Given the description of an element on the screen output the (x, y) to click on. 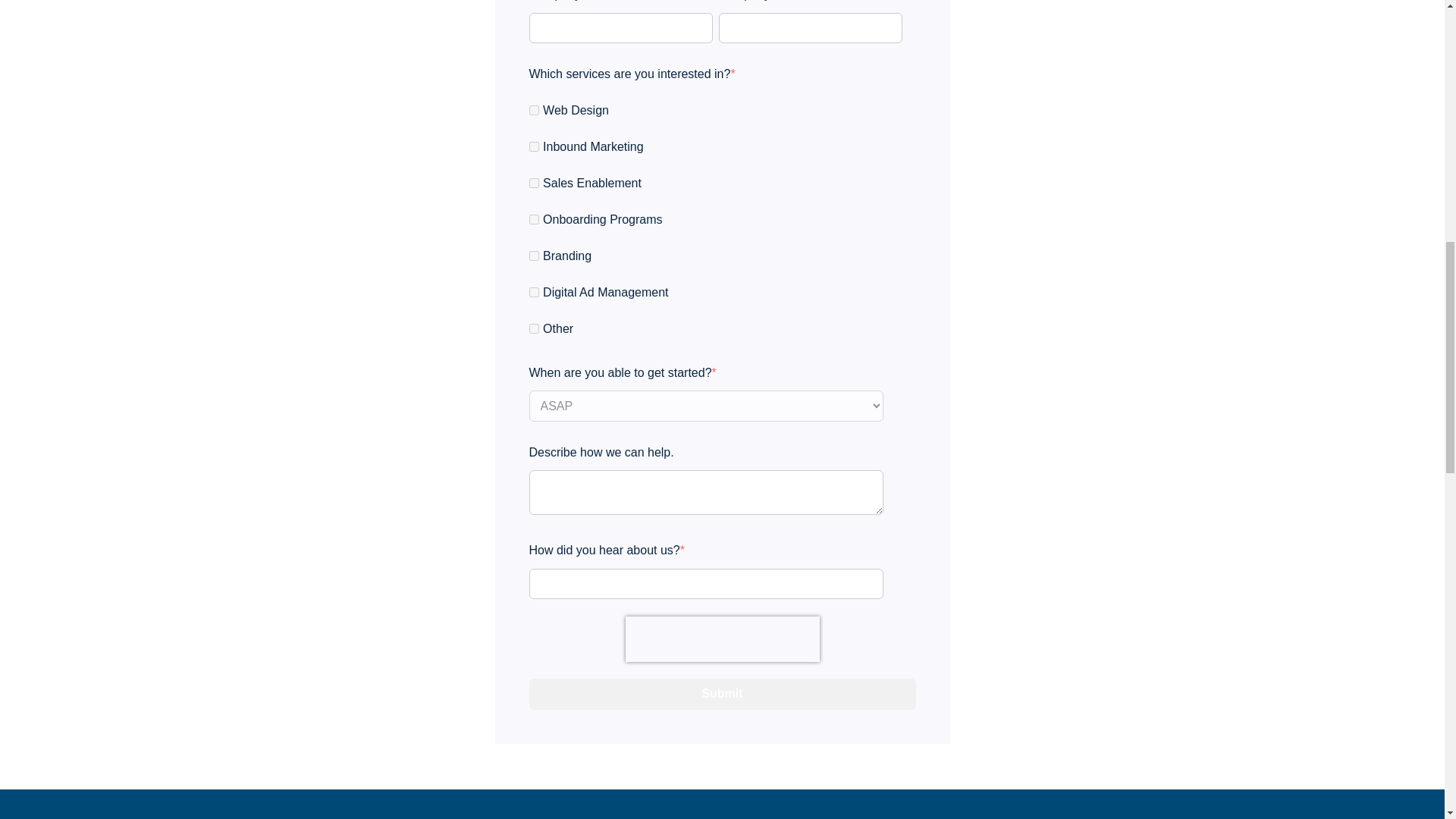
Inbound Marketing (533, 146)
reCAPTCHA (721, 638)
Web Design (533, 110)
Onboarding Programs (533, 219)
Digital Ad Management (533, 292)
Sales Enablement (533, 183)
Other (533, 328)
Submit (722, 693)
Branding (533, 255)
